Given the description of an element on the screen output the (x, y) to click on. 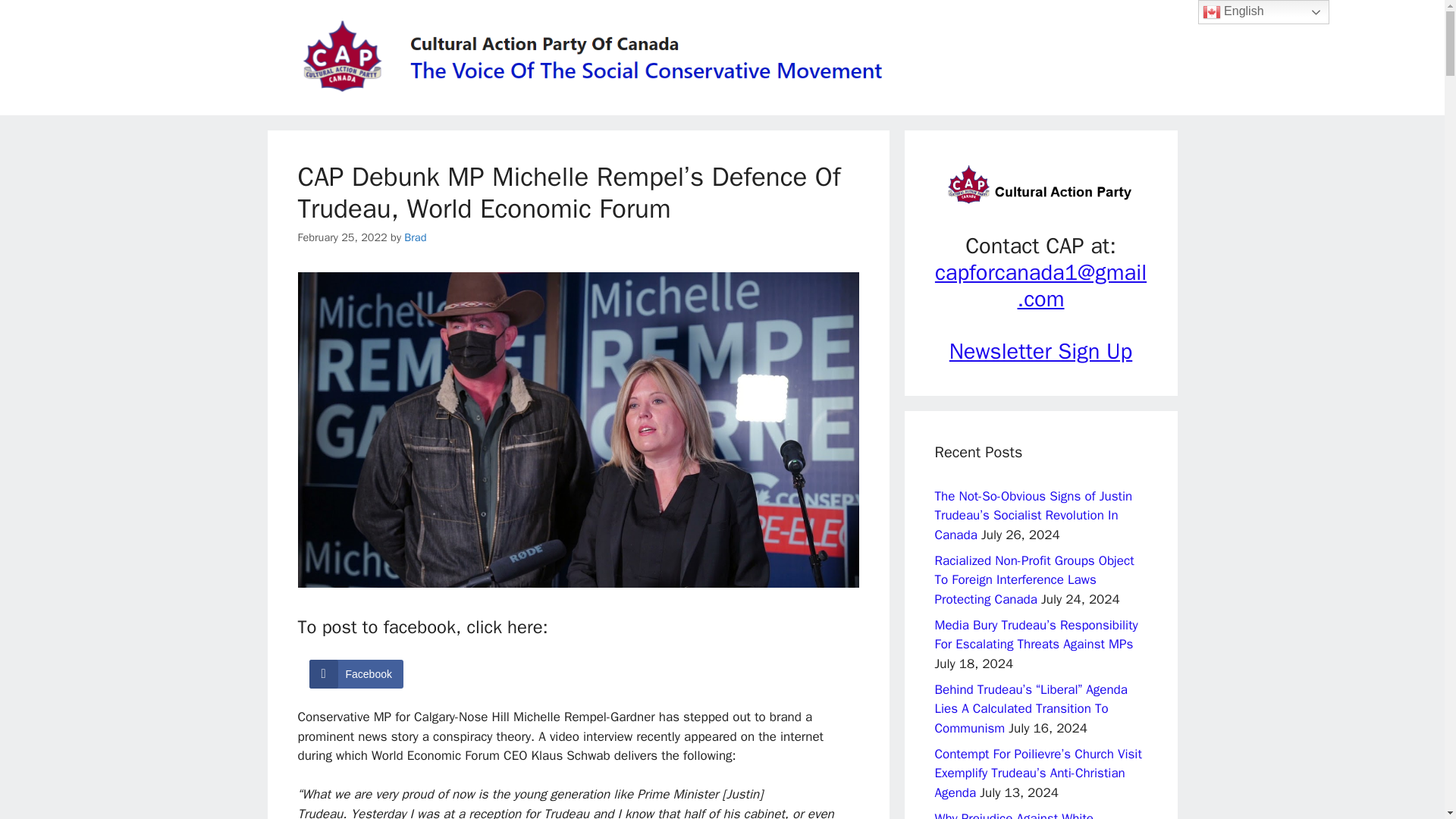
Facebook (355, 674)
Brad (415, 237)
View all posts by Brad (415, 237)
